Given the description of an element on the screen output the (x, y) to click on. 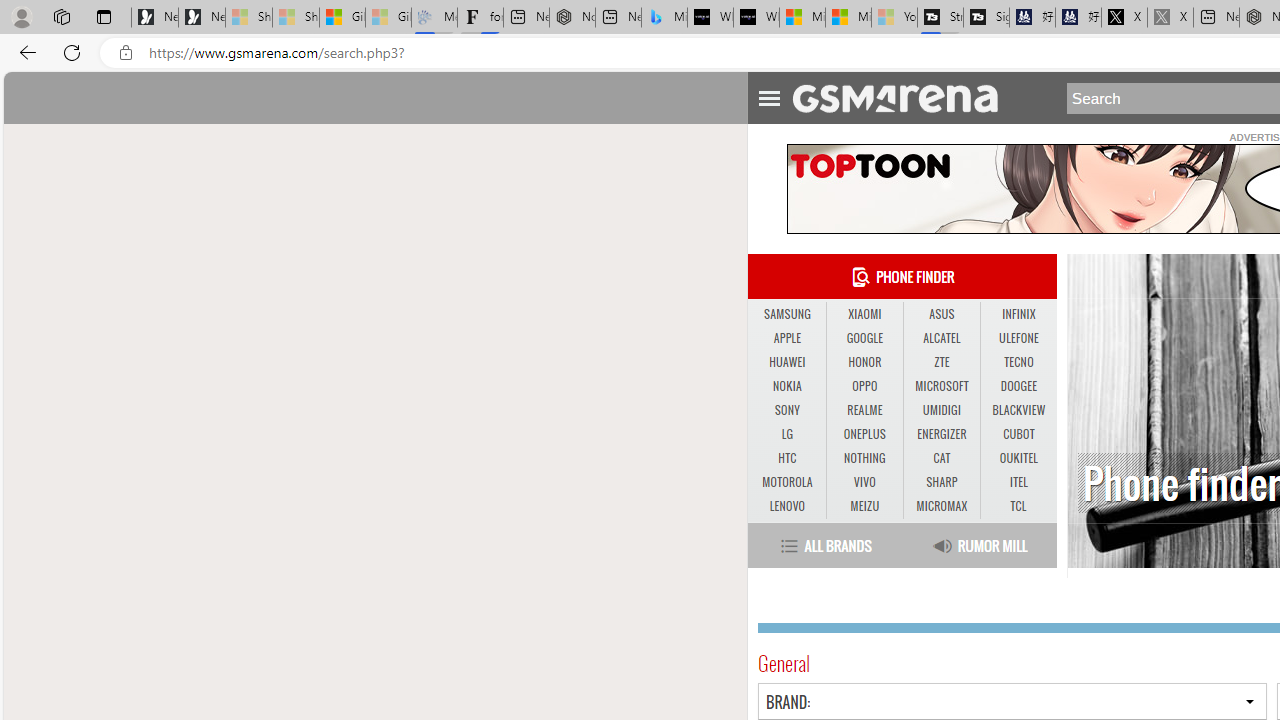
ZTE (941, 362)
OPPO (864, 386)
TECNO (1018, 362)
UMIDIGI (941, 411)
CUBOT (1018, 434)
TCL (1018, 506)
BLACKVIEW (1018, 410)
SONY (786, 411)
MEIZU (864, 506)
LENOVO (786, 506)
LENOVO (786, 506)
